Given the description of an element on the screen output the (x, y) to click on. 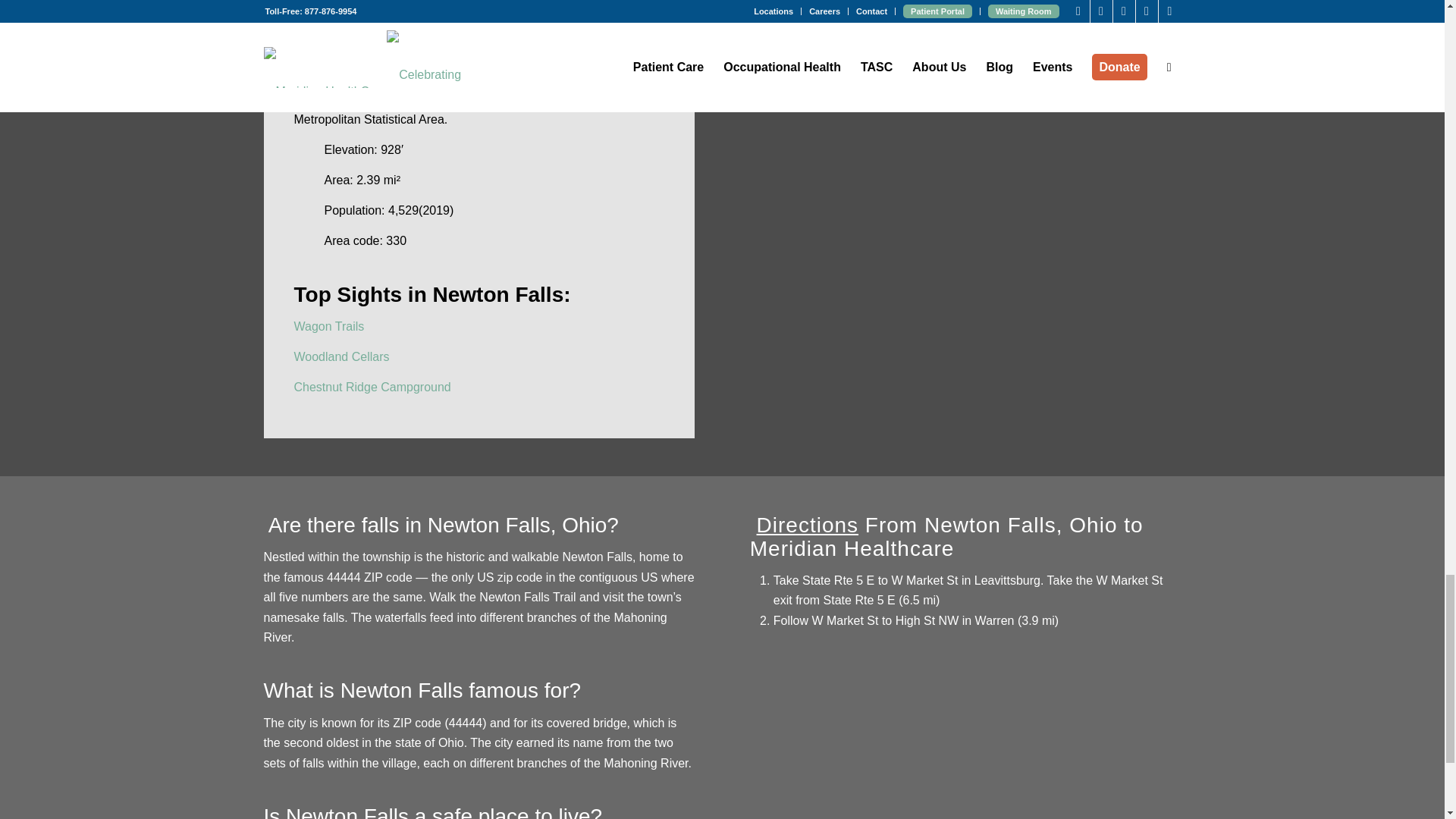
newton-falls (964, 3)
